Given the description of an element on the screen output the (x, y) to click on. 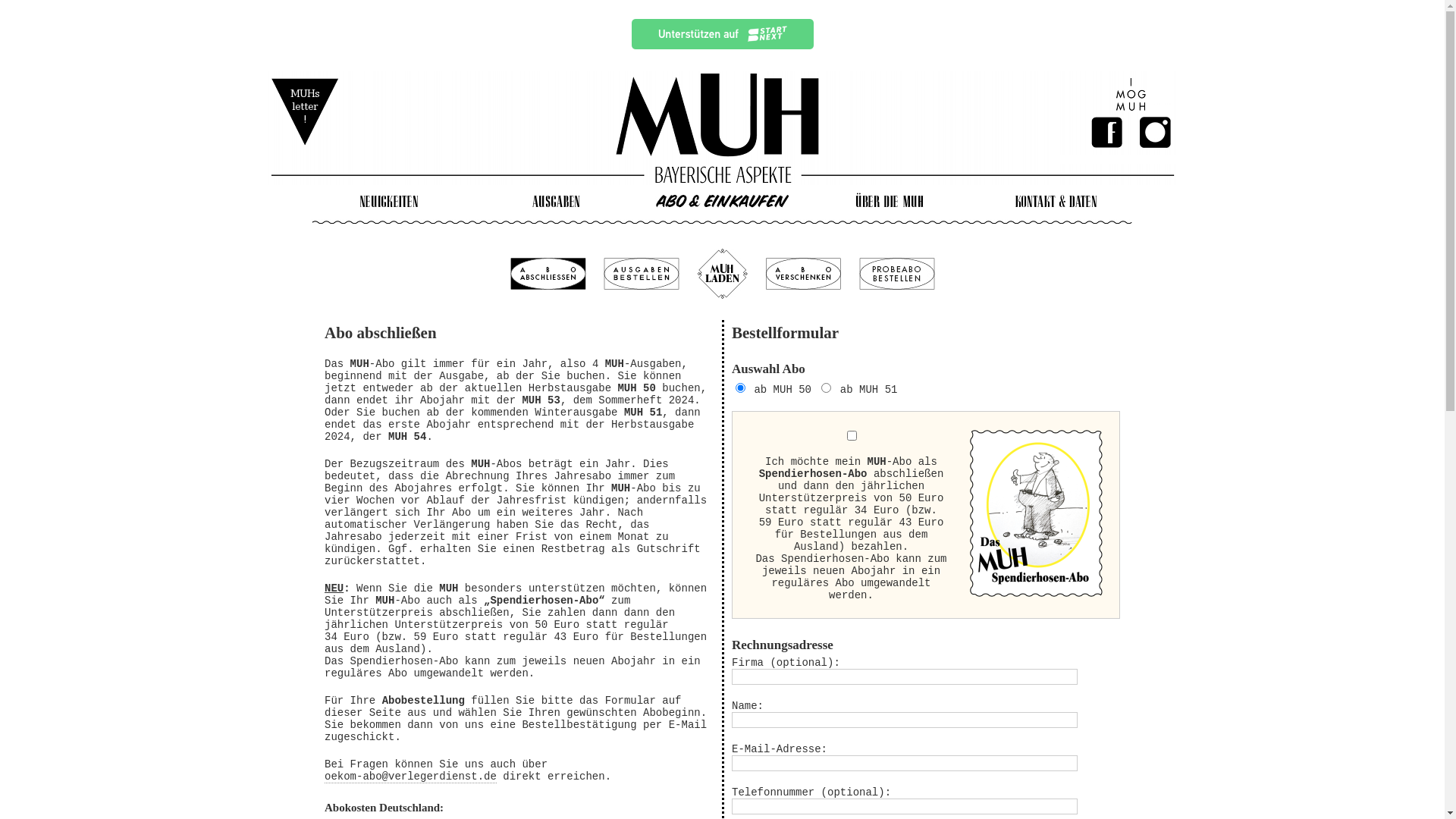
Bitte geben Sie eine Telefonnummer ein. Element type: hover (904, 806)
oekom-abo@verlegerdienst.de Element type: text (410, 776)
